Given the description of an element on the screen output the (x, y) to click on. 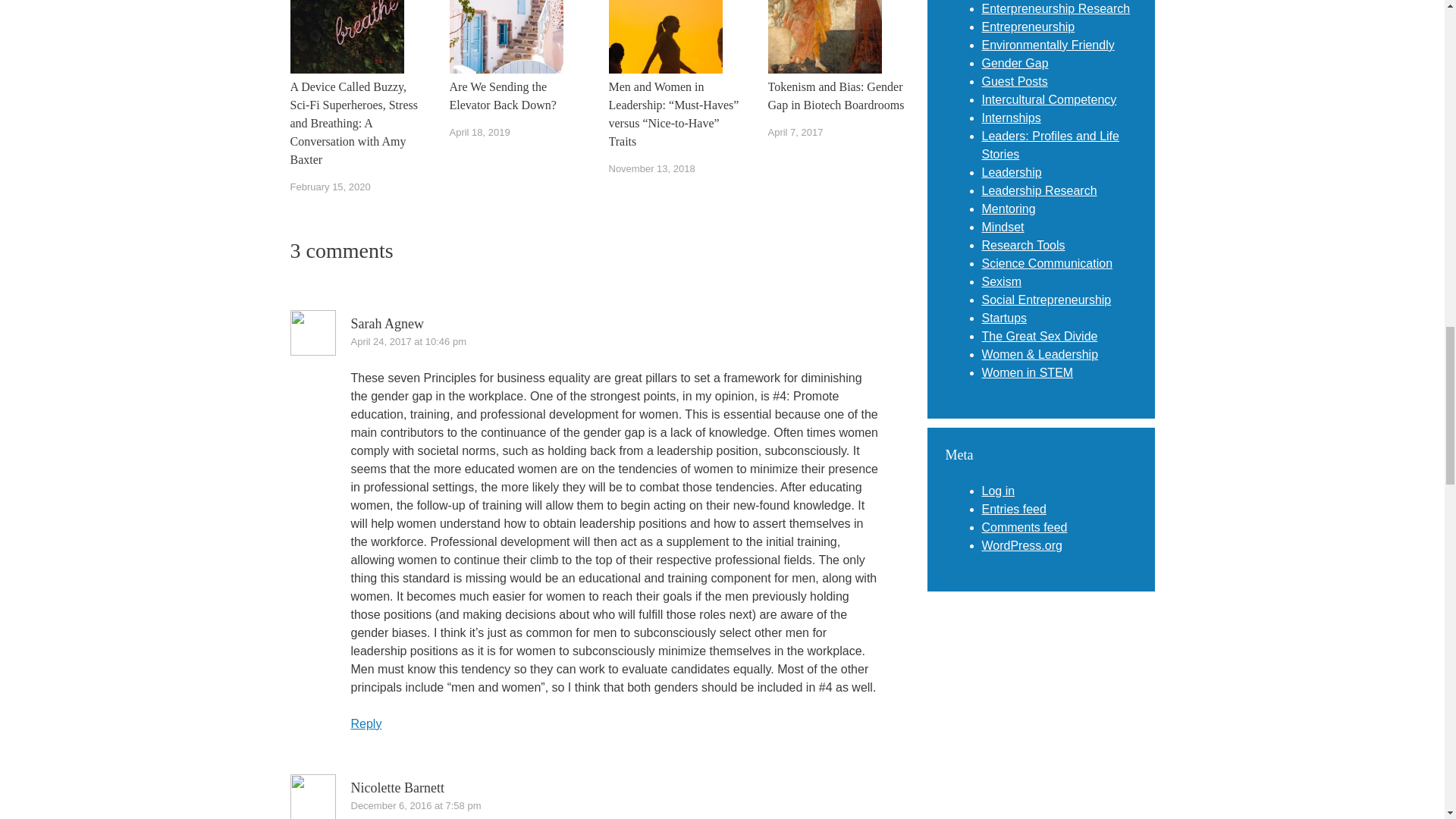
April 7, 2017 (794, 132)
December 6, 2016 at 7:58 pm (415, 805)
Reply (365, 723)
Are We Sending the Elevator Back Down? (516, 95)
Tokenism and Bias: Gender Gap in Biotech Boardrooms (835, 95)
November 13, 2018 (651, 168)
February 15, 2020 (329, 187)
April 18, 2019 (478, 132)
April 24, 2017 at 10:46 pm (407, 341)
